Given the description of an element on the screen output the (x, y) to click on. 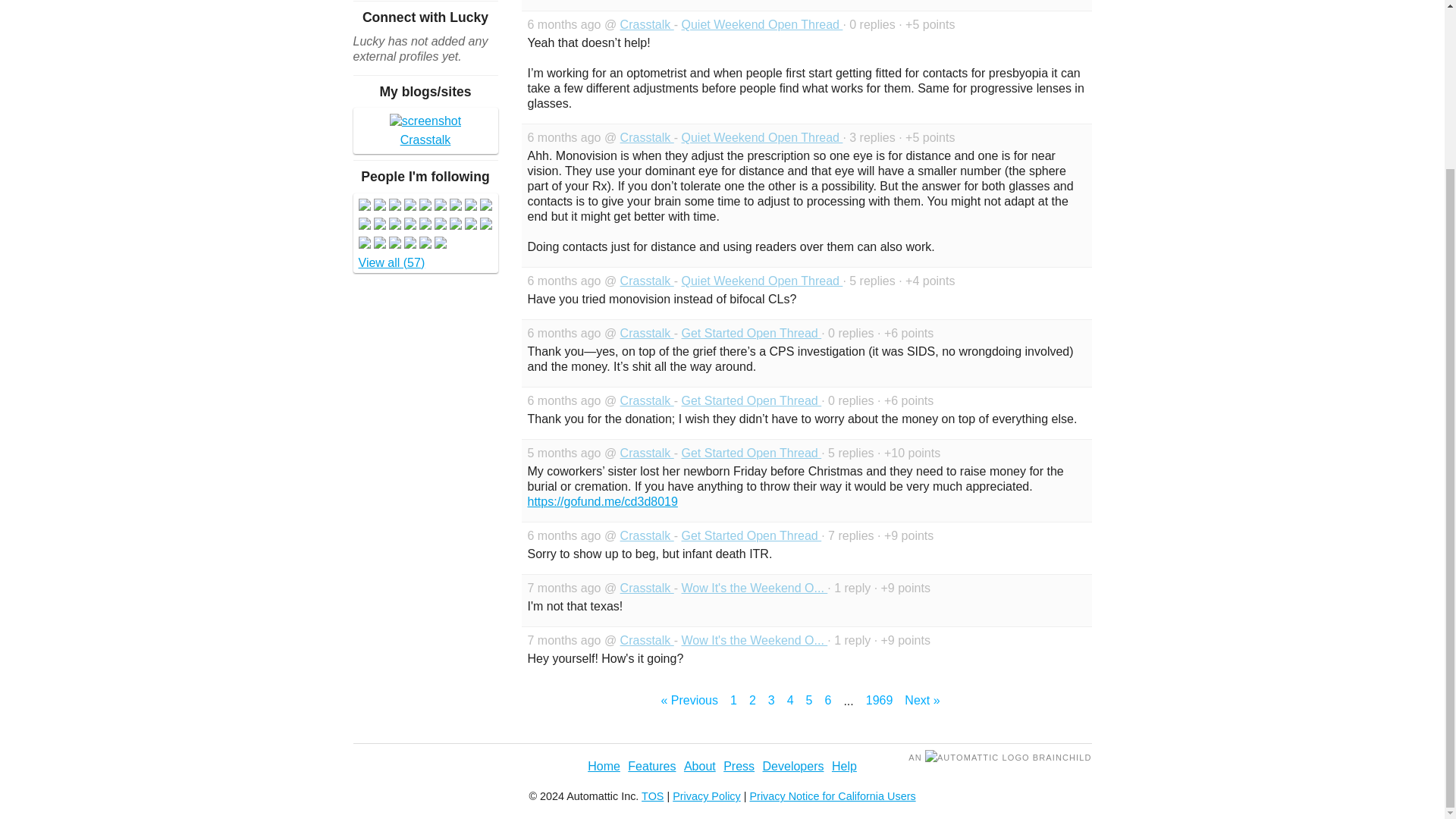
Quiet Weekend Open Thread (762, 137)
APotContinent (408, 206)
Quiet Weekend Open Thread (762, 24)
alluson (424, 206)
cletar (470, 225)
DQ2Elecboogaloo (378, 225)
Crasstalk (647, 280)
DorothyBarker (378, 206)
Quiet Weekend Open Thread (762, 280)
Crasstalk (647, 24)
ShorterDolemite (485, 206)
EthologyNerd (363, 225)
bobgeorge (408, 225)
KotBR (485, 225)
Beibhinn (454, 225)
